Given the description of an element on the screen output the (x, y) to click on. 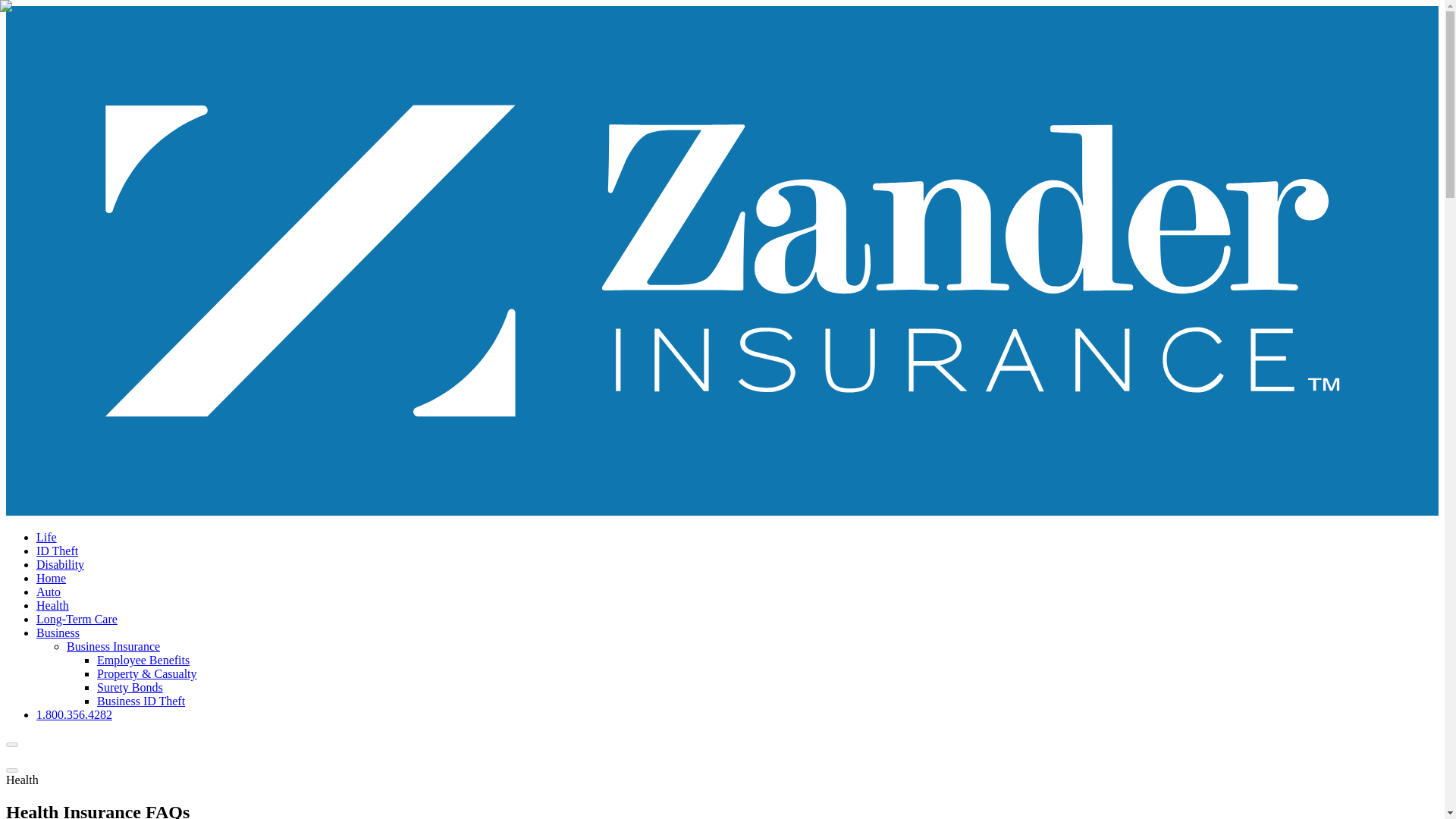
1.800.356.4282 (74, 714)
menu (11, 744)
Health (52, 604)
Auto (48, 591)
Business Insurance (113, 645)
Disability (60, 563)
menu (11, 770)
Business ID Theft (140, 700)
ID Theft (57, 550)
Business (58, 632)
Surety Bonds (130, 686)
Employee Benefits (143, 659)
Home (50, 577)
Long-Term Care (76, 618)
Life (46, 536)
